Given the description of an element on the screen output the (x, y) to click on. 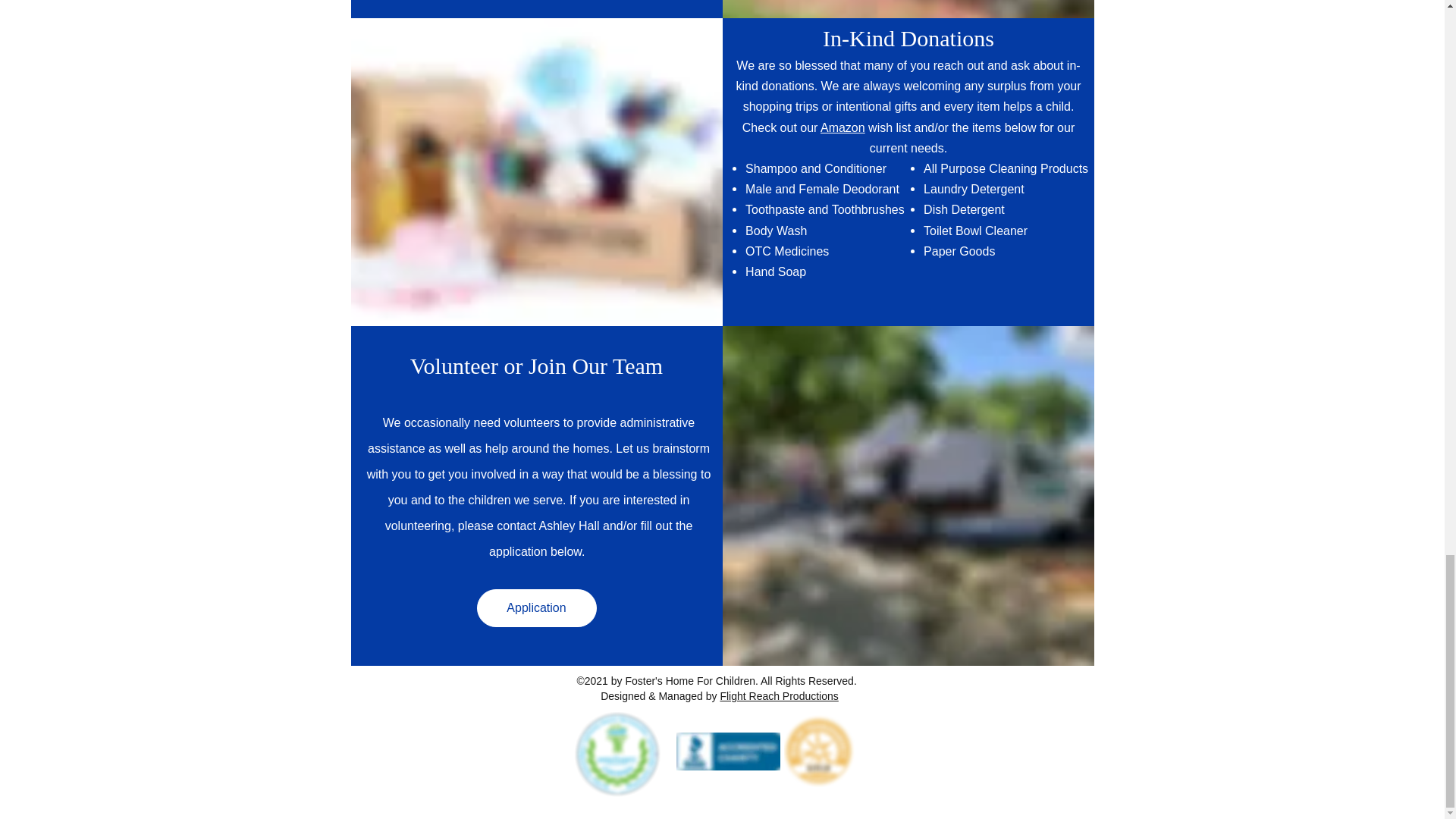
Amazon (842, 127)
Application (535, 607)
Flight Reach Productions (778, 695)
